Given the description of an element on the screen output the (x, y) to click on. 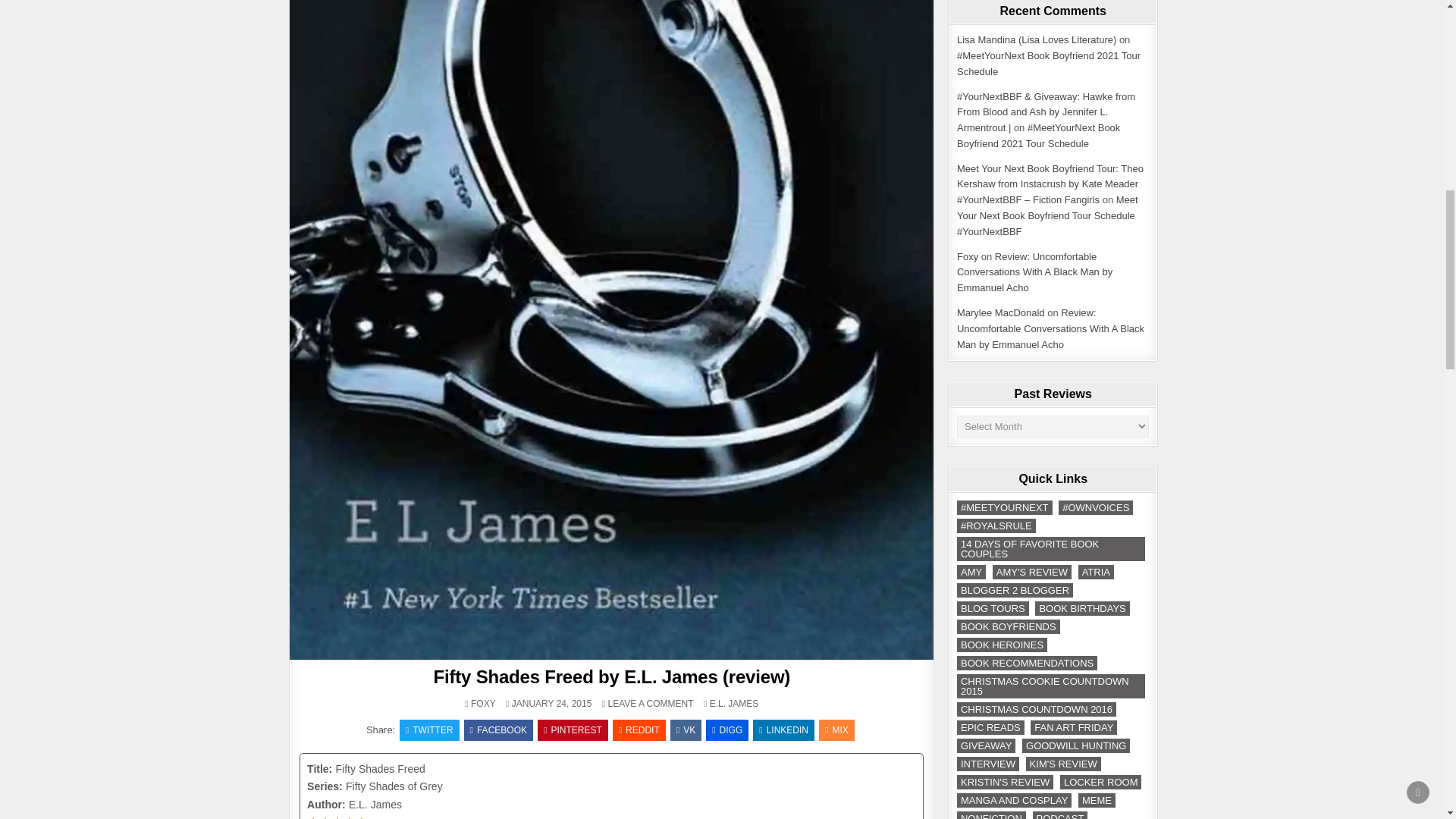
FACEBOOK (498, 730)
Share this on Facebook (498, 730)
TWITTER (429, 730)
PINTEREST (572, 730)
Share this on Pinterest (572, 730)
Share this on Linkedin (782, 730)
Share this on Digg (727, 730)
DIGG (727, 730)
Tweet This! (429, 730)
Share this on Reddit (638, 730)
VK (685, 730)
E.L. JAMES (734, 703)
FOXY (483, 703)
MIX (836, 730)
Share this on Mix (836, 730)
